Given the description of an element on the screen output the (x, y) to click on. 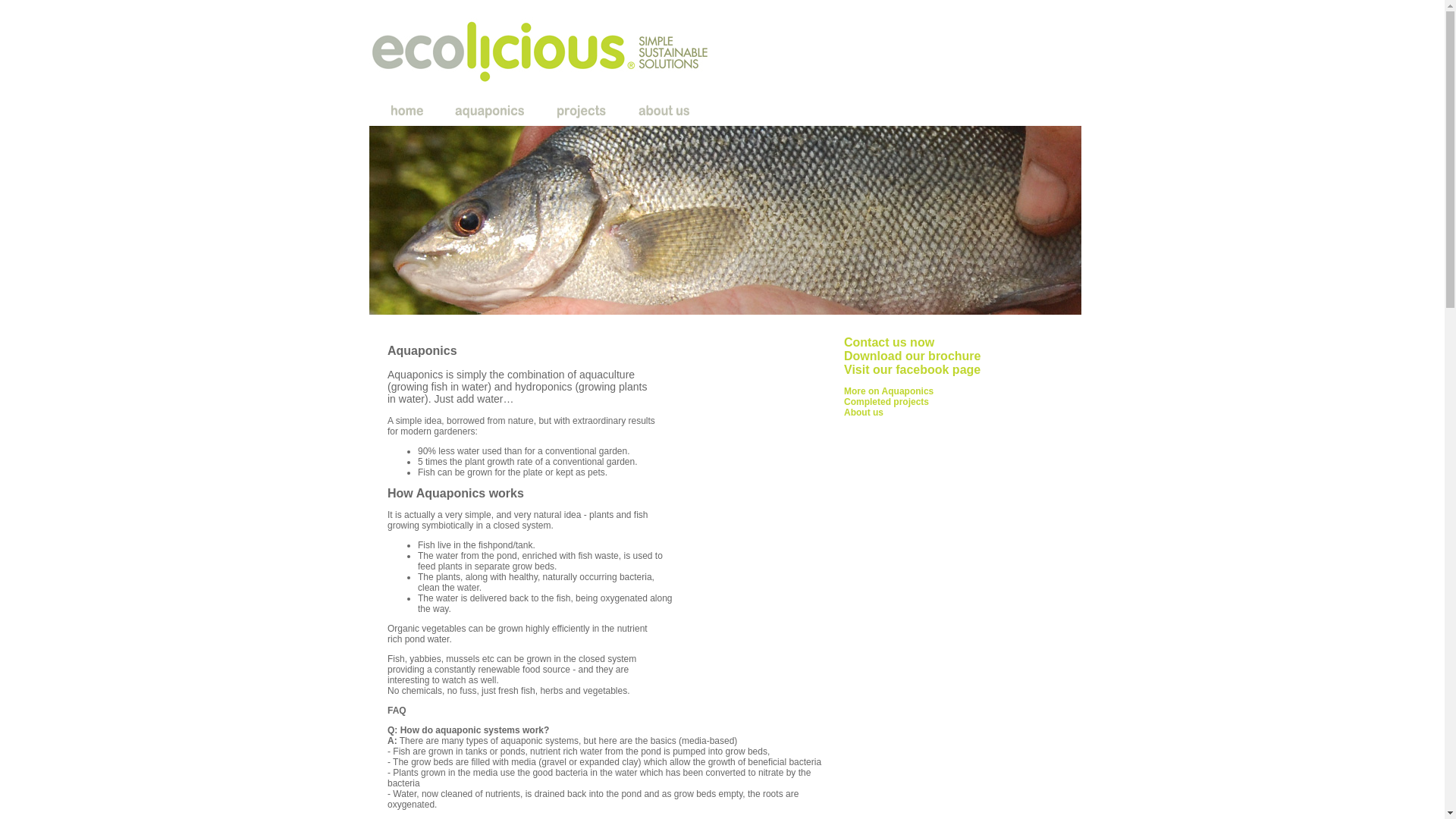
About us Element type: text (863, 412)
Contact us now Element type: text (889, 341)
Completed projects Element type: text (886, 401)
Download our brochure Element type: text (912, 355)
More on Aquaponics Element type: text (888, 390)
Visit our facebook page Element type: text (912, 369)
